Given the description of an element on the screen output the (x, y) to click on. 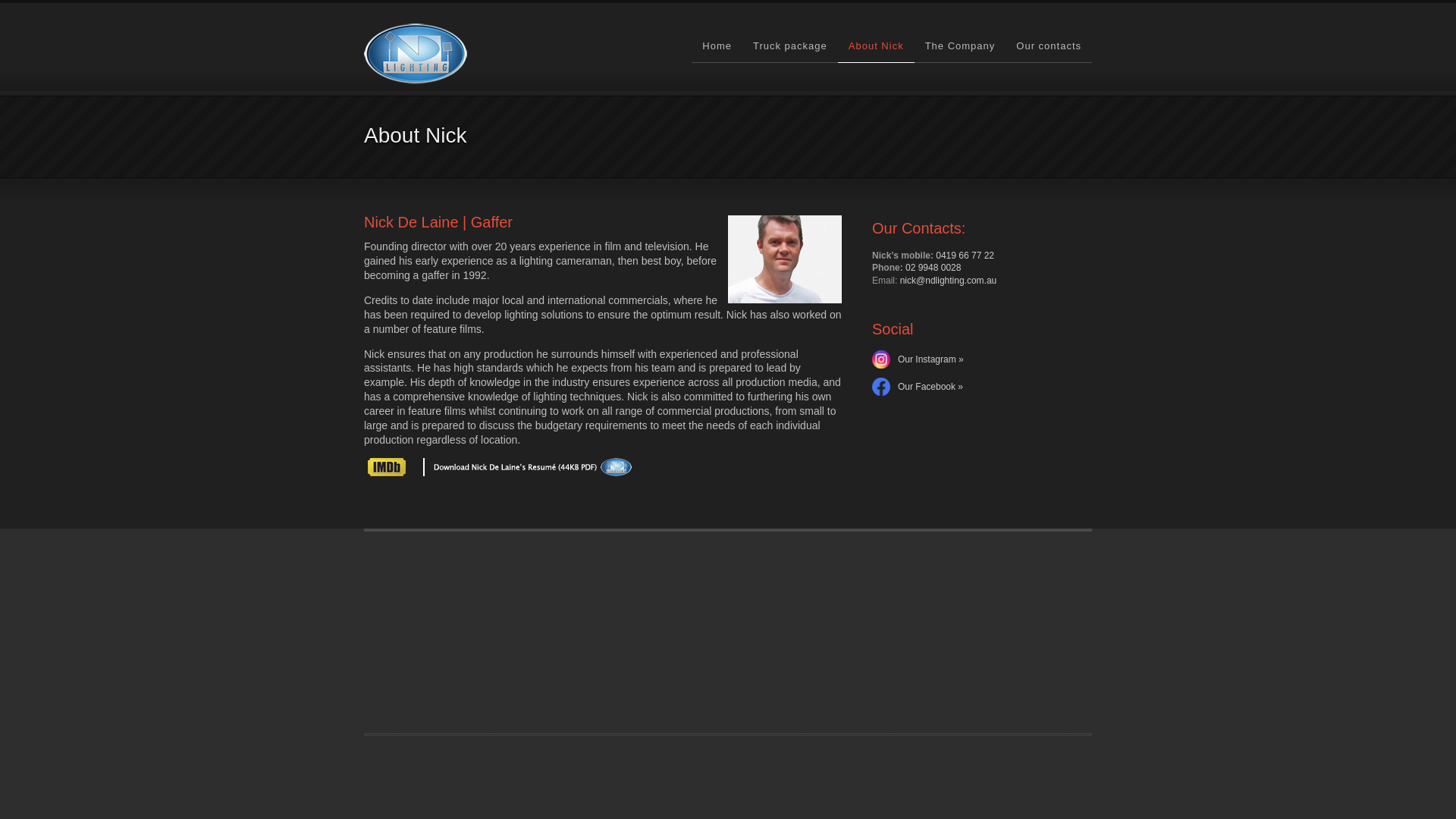
About Nick Element type: text (875, 45)
Truck package Element type: text (789, 45)
Our contacts Element type: text (1048, 45)
ND Lighting Element type: text (415, 53)
0419 66 77 22 Element type: text (964, 255)
The Company Element type: text (960, 45)
nick@ndlighting.com.au Element type: text (948, 280)
Home Element type: text (716, 45)
Nick De Laine Element type: hover (784, 259)
02 9948 0028 Element type: text (932, 267)
